Given the description of an element on the screen output the (x, y) to click on. 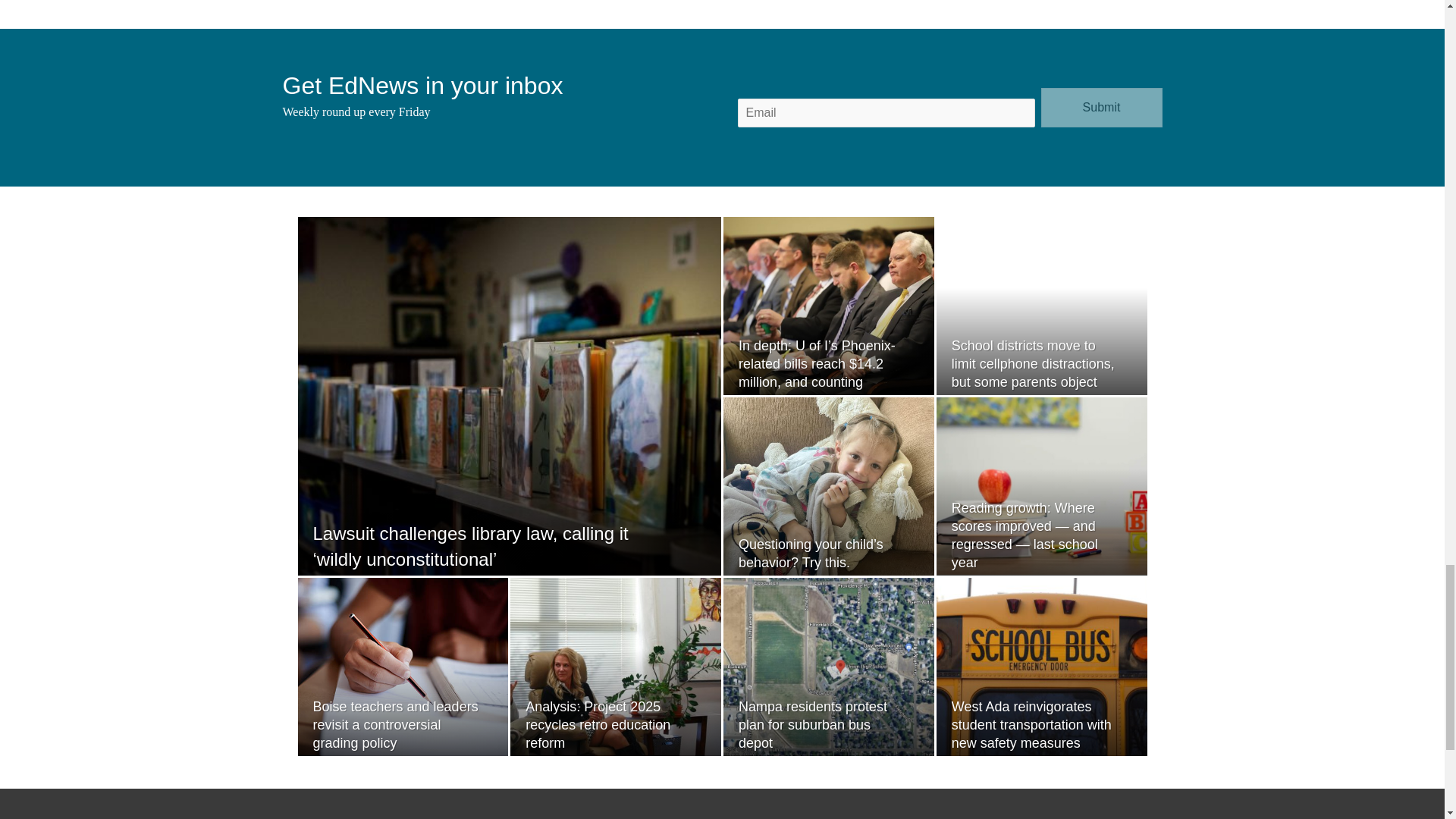
Submit (1101, 107)
Analysis: Project 2025 recycles retro education reform (597, 725)
Nampa residents protest plan for suburban bus depot (812, 725)
